Given the description of an element on the screen output the (x, y) to click on. 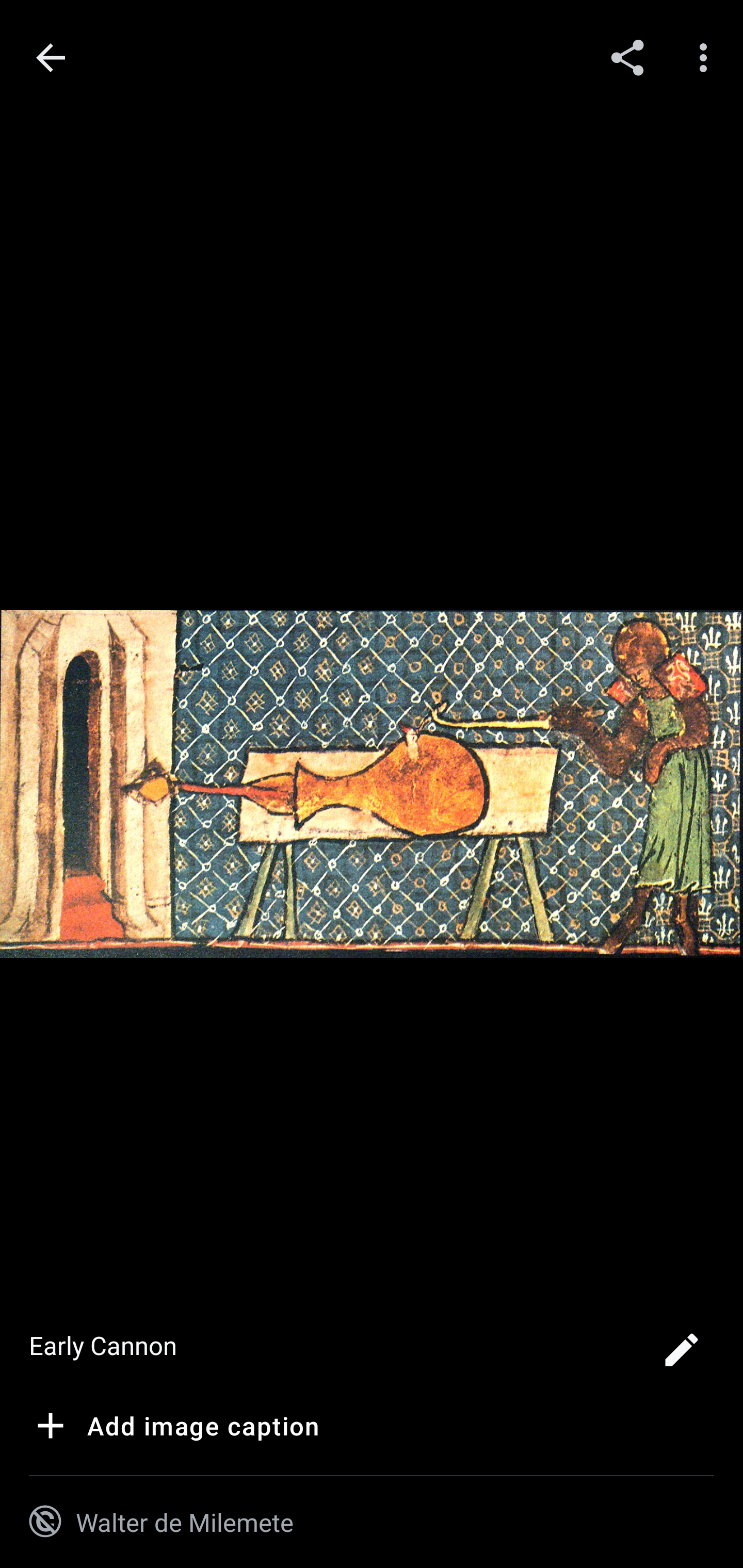
Navigate up (50, 57)
Share (626, 57)
More options (706, 57)
Edit image caption (681, 1355)
Add image caption (174, 1428)
Public domain (44, 1521)
